Given the description of an element on the screen output the (x, y) to click on. 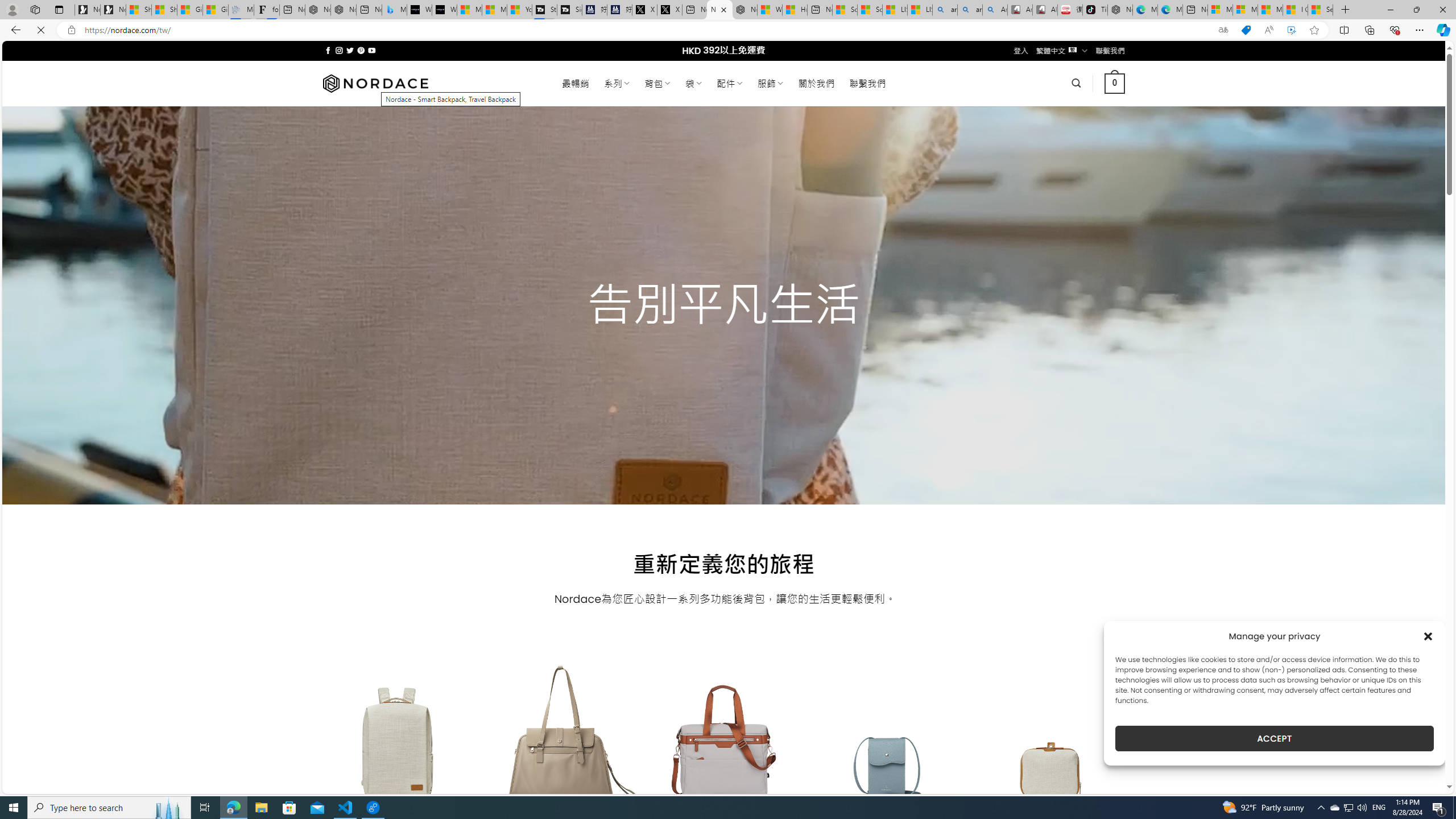
Nordace - #1 Japanese Best-Seller - Siena Smart Backpack (343, 9)
TikTok (1094, 9)
amazon - Search (944, 9)
Huge shark washes ashore at New York City beach | Watch (794, 9)
Streaming Coverage | T3 (544, 9)
